Given the description of an element on the screen output the (x, y) to click on. 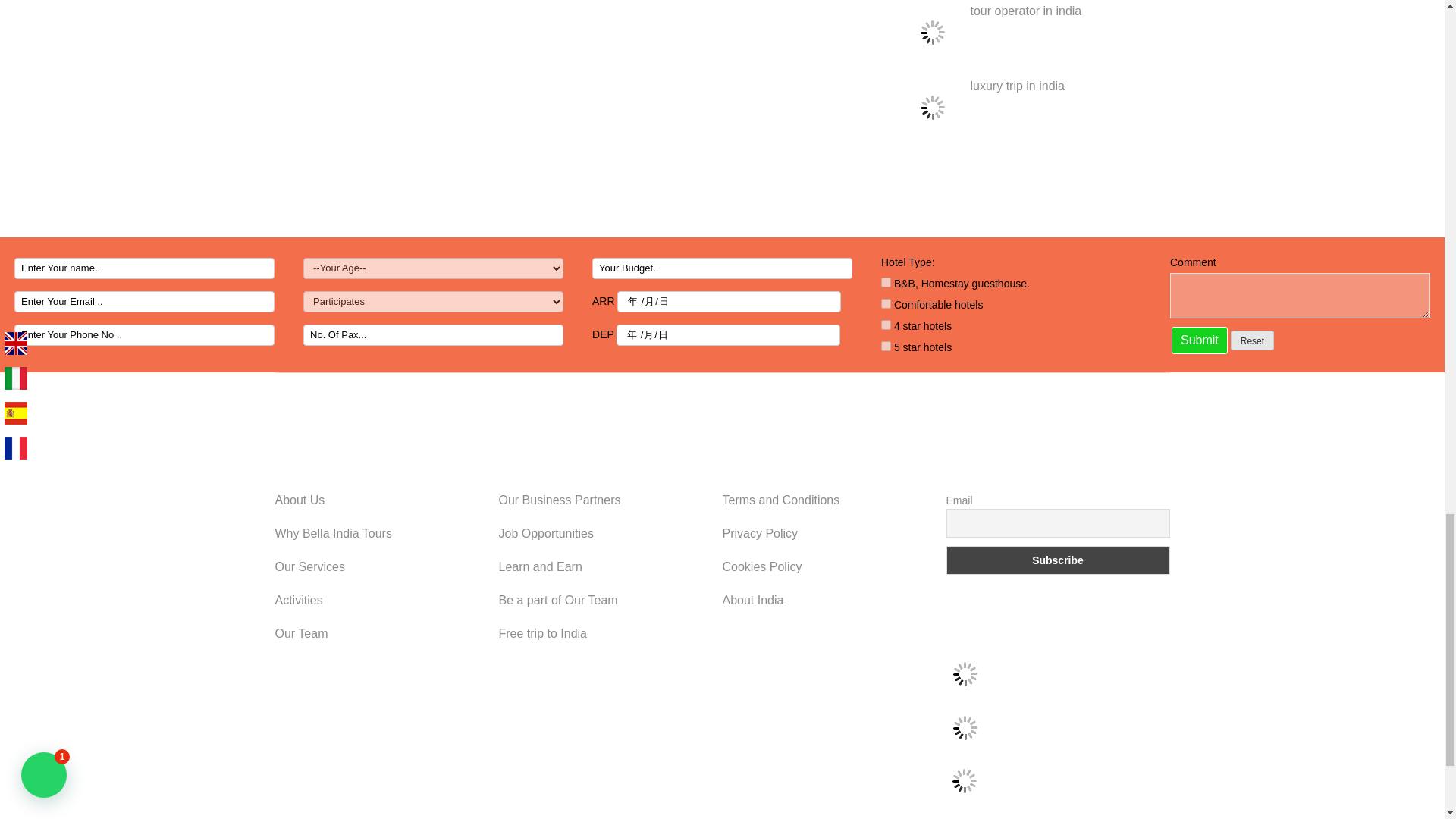
Comfortable hotels (885, 303)
5 star hotels (885, 346)
Subscribe (1058, 560)
Reset (1252, 340)
4 star hotels (885, 325)
Submit (1199, 339)
